Given the description of an element on the screen output the (x, y) to click on. 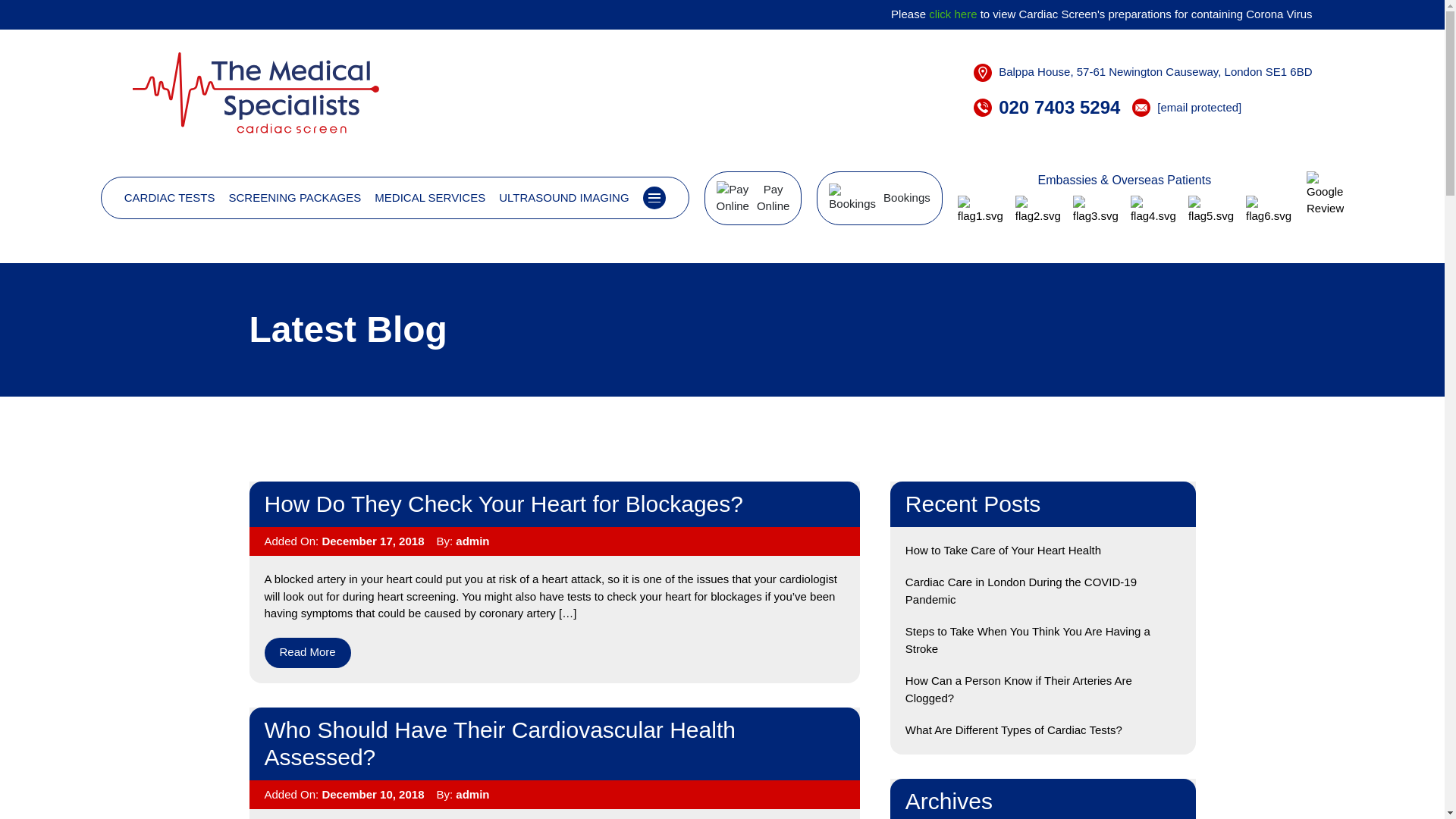
SCREENING PACKAGES (294, 198)
Pay Online (753, 198)
CARDIAC TESTS (169, 198)
MEDICAL SERVICES (429, 198)
ULTRASOUND IMAGING (563, 198)
020 7403 5294 (1058, 107)
click here (952, 13)
Bookings (879, 198)
